Given the description of an element on the screen output the (x, y) to click on. 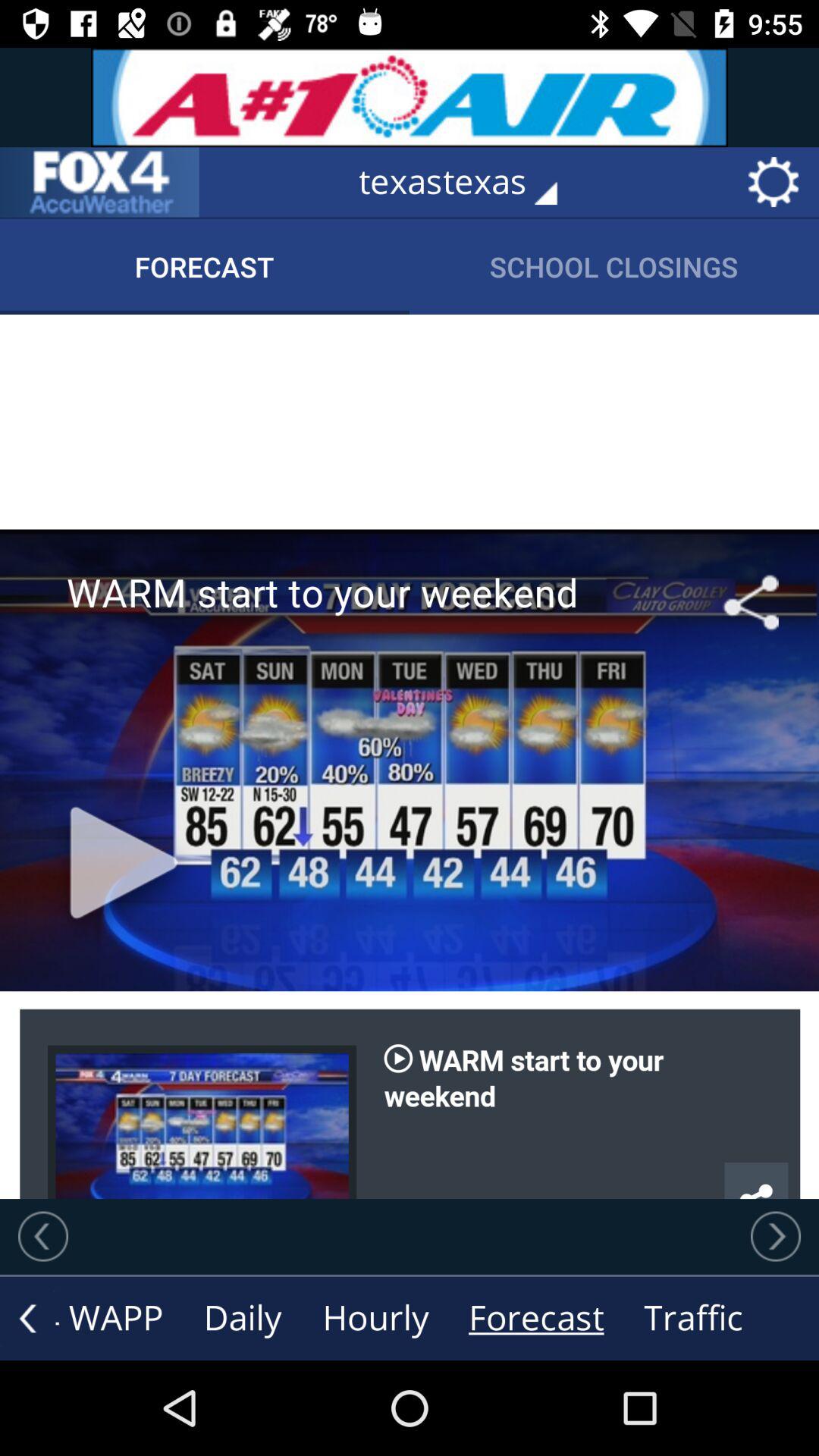
turn on icon to the left of texastexas icon (99, 182)
